Given the description of an element on the screen output the (x, y) to click on. 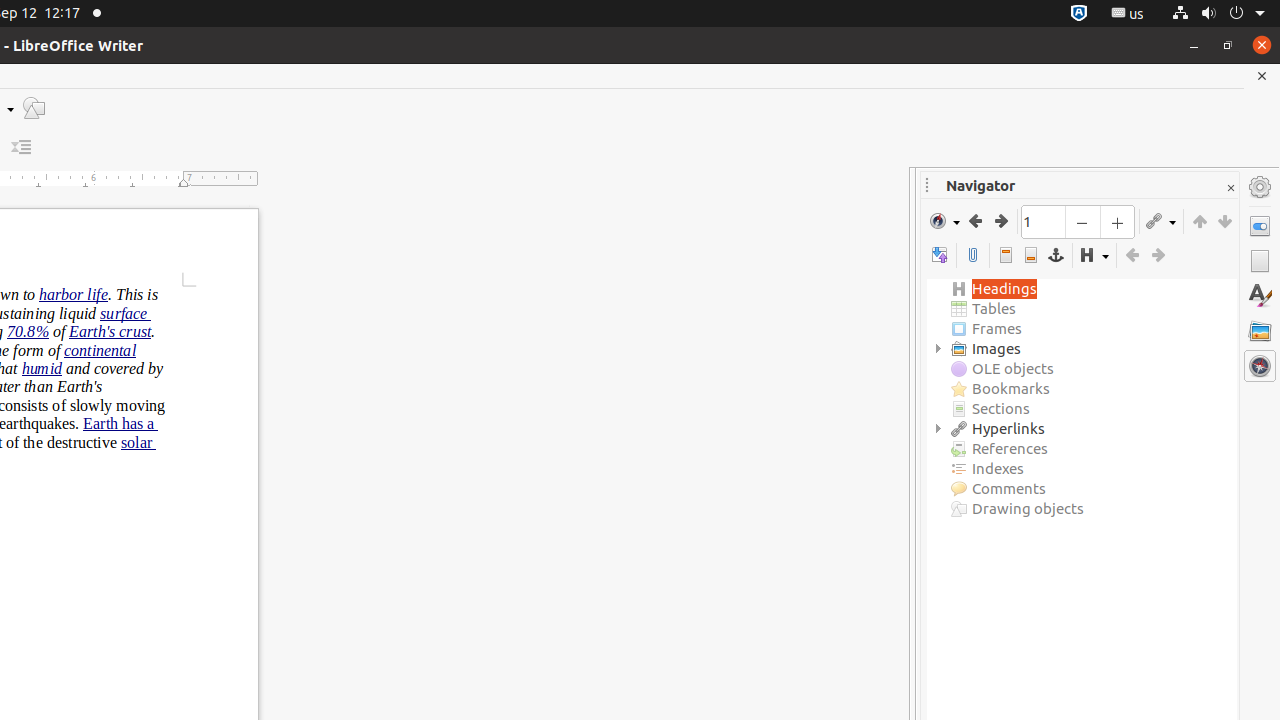
:1.21/StatusNotifierItem Element type: menu (1127, 13)
:1.72/StatusNotifierItem Element type: menu (1079, 13)
System Element type: menu (1218, 13)
